Given the description of an element on the screen output the (x, y) to click on. 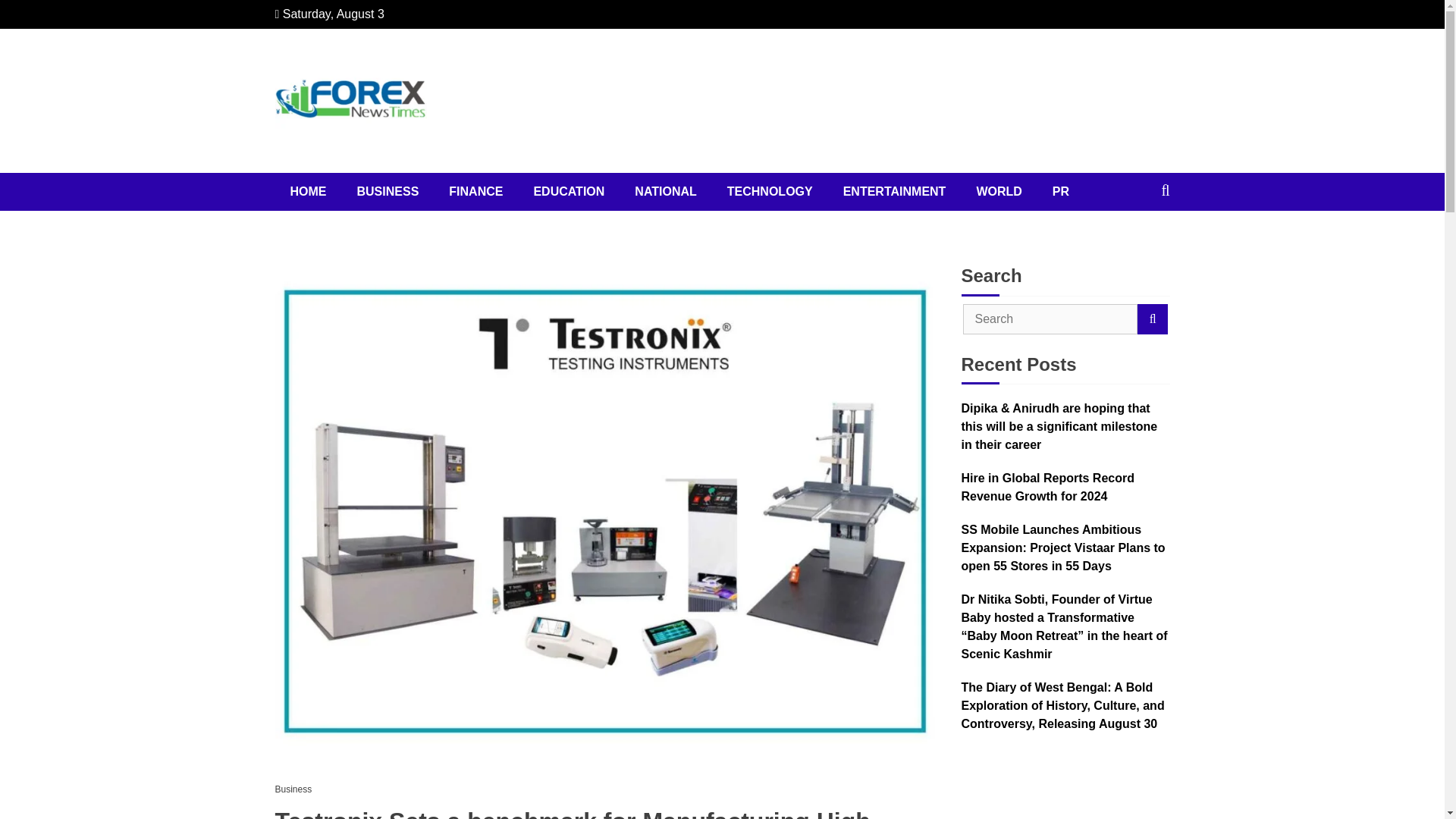
TECHNOLOGY (769, 191)
ENTERTAINMENT (894, 191)
Business (296, 789)
BUSINESS (386, 191)
WORLD (998, 191)
EDUCATION (569, 191)
PR (1060, 191)
Forex News Times (407, 176)
Hire in Global Reports Record Revenue Growth for 2024 (1065, 487)
FINANCE (475, 191)
HOME (307, 191)
NATIONAL (665, 191)
